Given the description of an element on the screen output the (x, y) to click on. 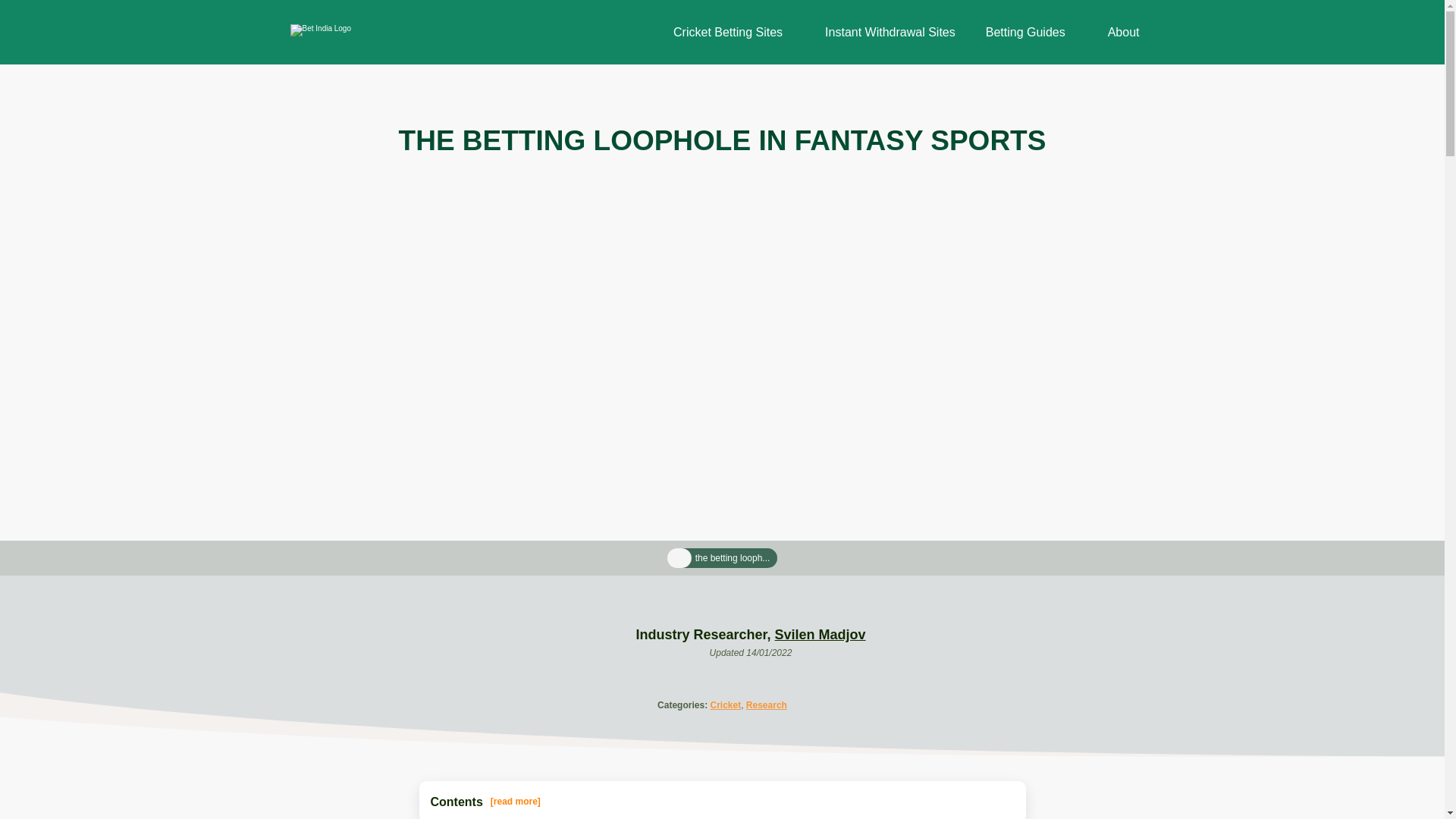
The Betting Loophole in Fantasy Sports (732, 557)
Industry Researcher, (704, 634)
About (1123, 32)
Svilen Madjov (820, 634)
Cricket (725, 705)
Home (679, 558)
Cricket Betting Sites (727, 32)
Instant Withdrawal Sites (890, 32)
Betting Guides (1025, 32)
Research (766, 705)
